Given the description of an element on the screen output the (x, y) to click on. 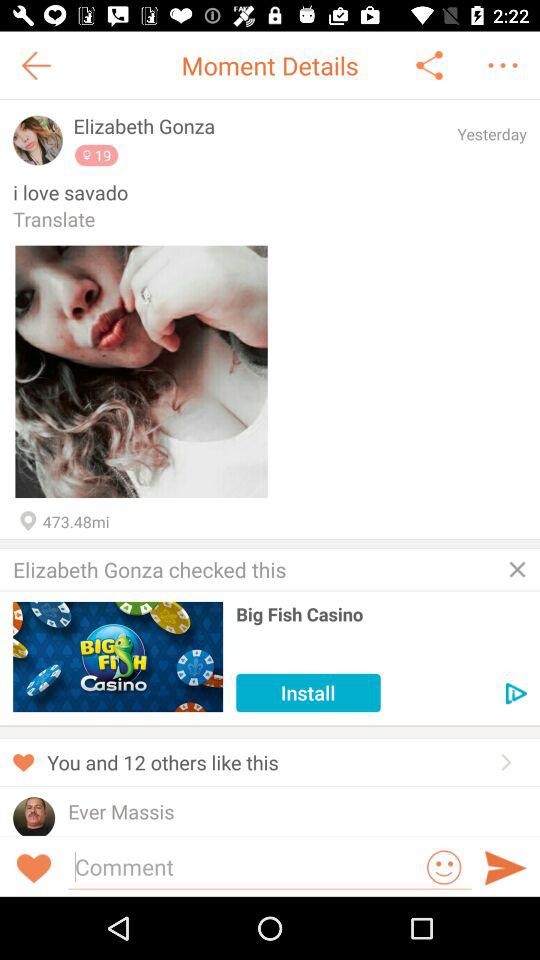
choose the item below the ever massis (104, 832)
